Given the description of an element on the screen output the (x, y) to click on. 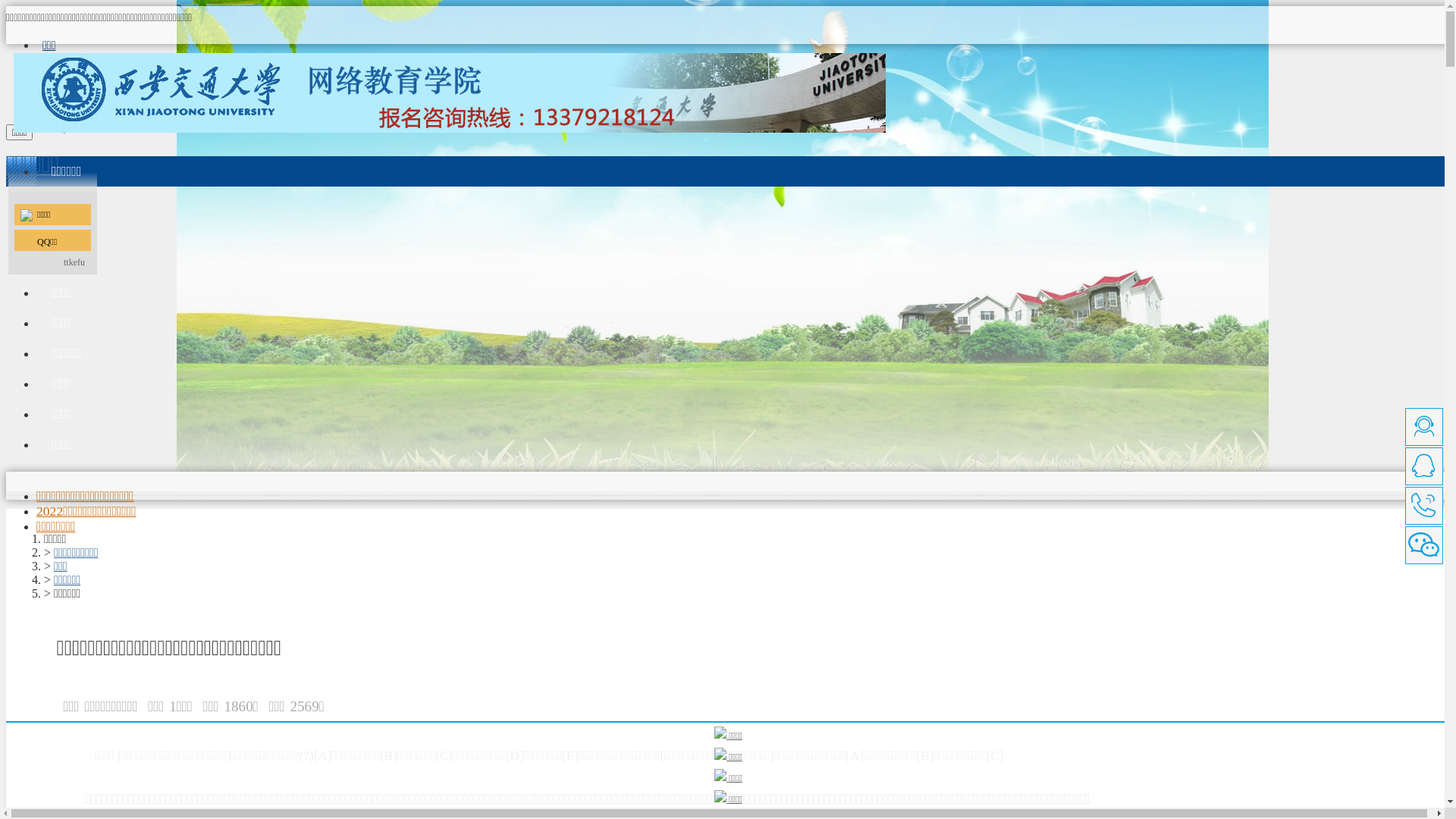
  Element type: text (52, 134)
ttkefu Element type: text (73, 262)
